Given the description of an element on the screen output the (x, y) to click on. 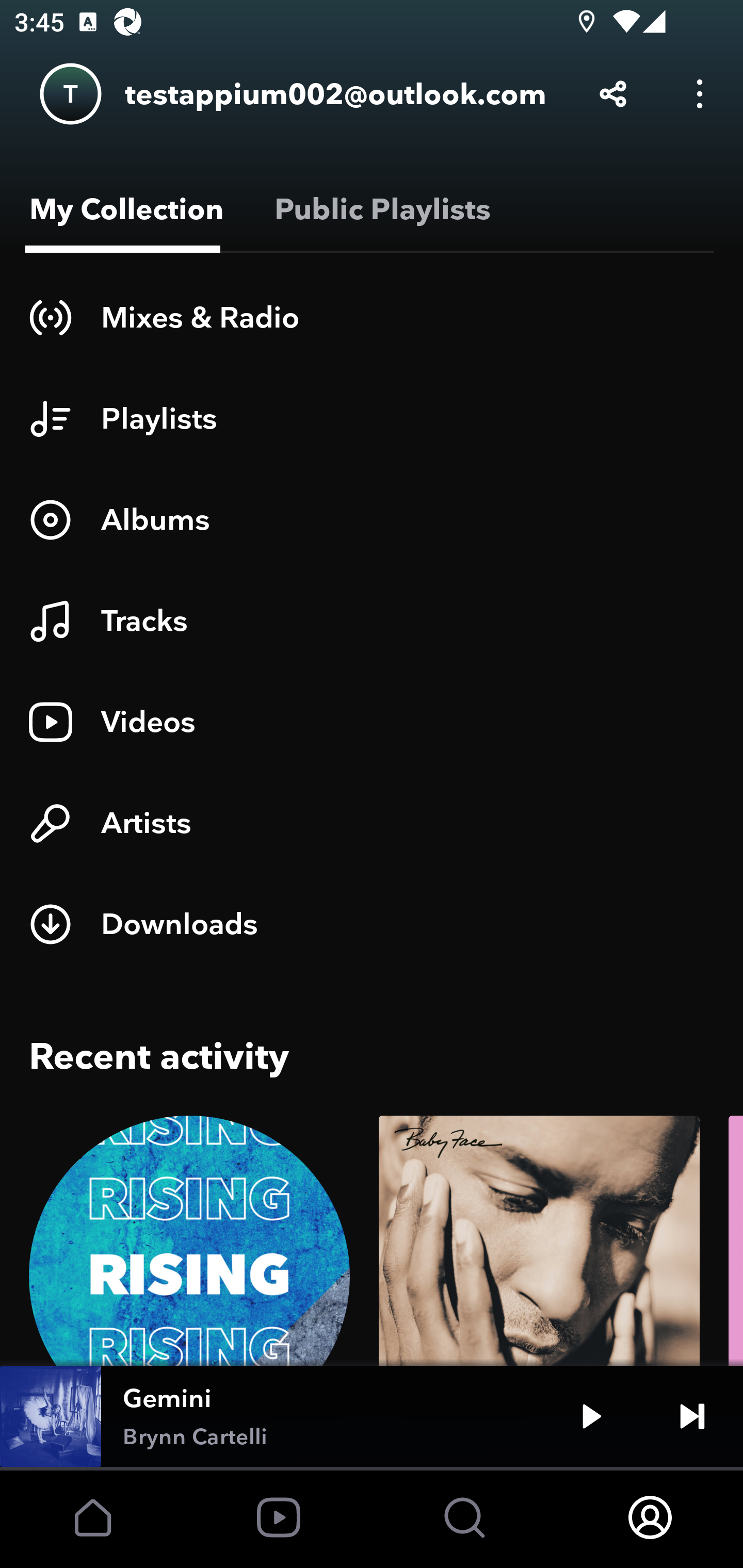
Share (612, 93)
Options (699, 93)
Public Playlists (378, 209)
Mixes & Radio (371, 317)
Playlists (371, 418)
Albums (371, 519)
Tracks (371, 620)
Videos (371, 722)
Artists (371, 823)
Downloads (371, 924)
Gemini Brynn Cartelli Play (371, 1416)
Play (590, 1416)
